Given the description of an element on the screen output the (x, y) to click on. 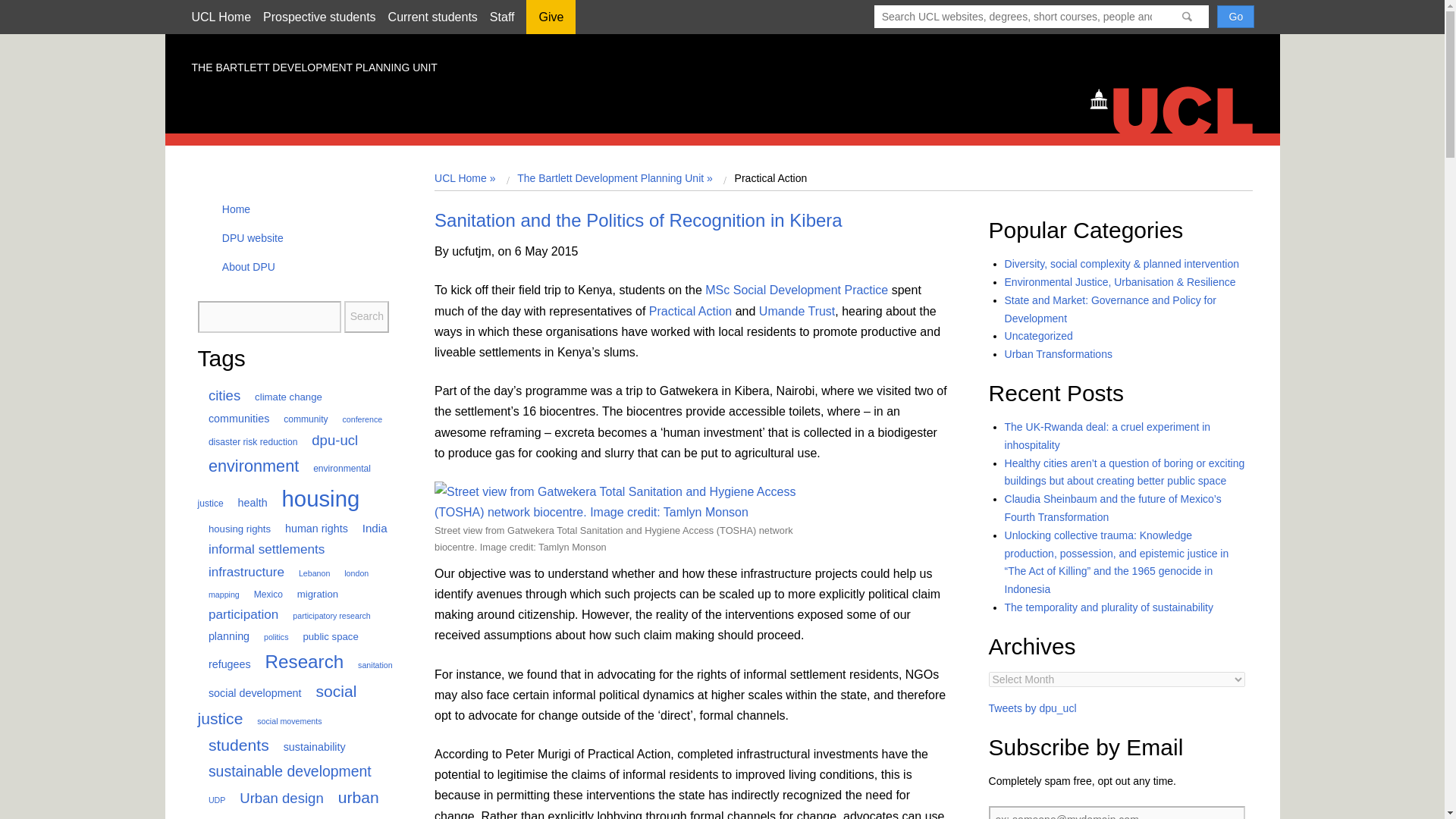
conference (356, 419)
Current students (432, 16)
India (368, 527)
migration (311, 593)
Go (1235, 15)
UCL Home (220, 16)
About DPU (243, 266)
climate change (282, 396)
health (246, 502)
Search (365, 316)
dpu-ucl (329, 439)
Home (1178, 108)
human rights (311, 528)
Go (1235, 15)
